Given the description of an element on the screen output the (x, y) to click on. 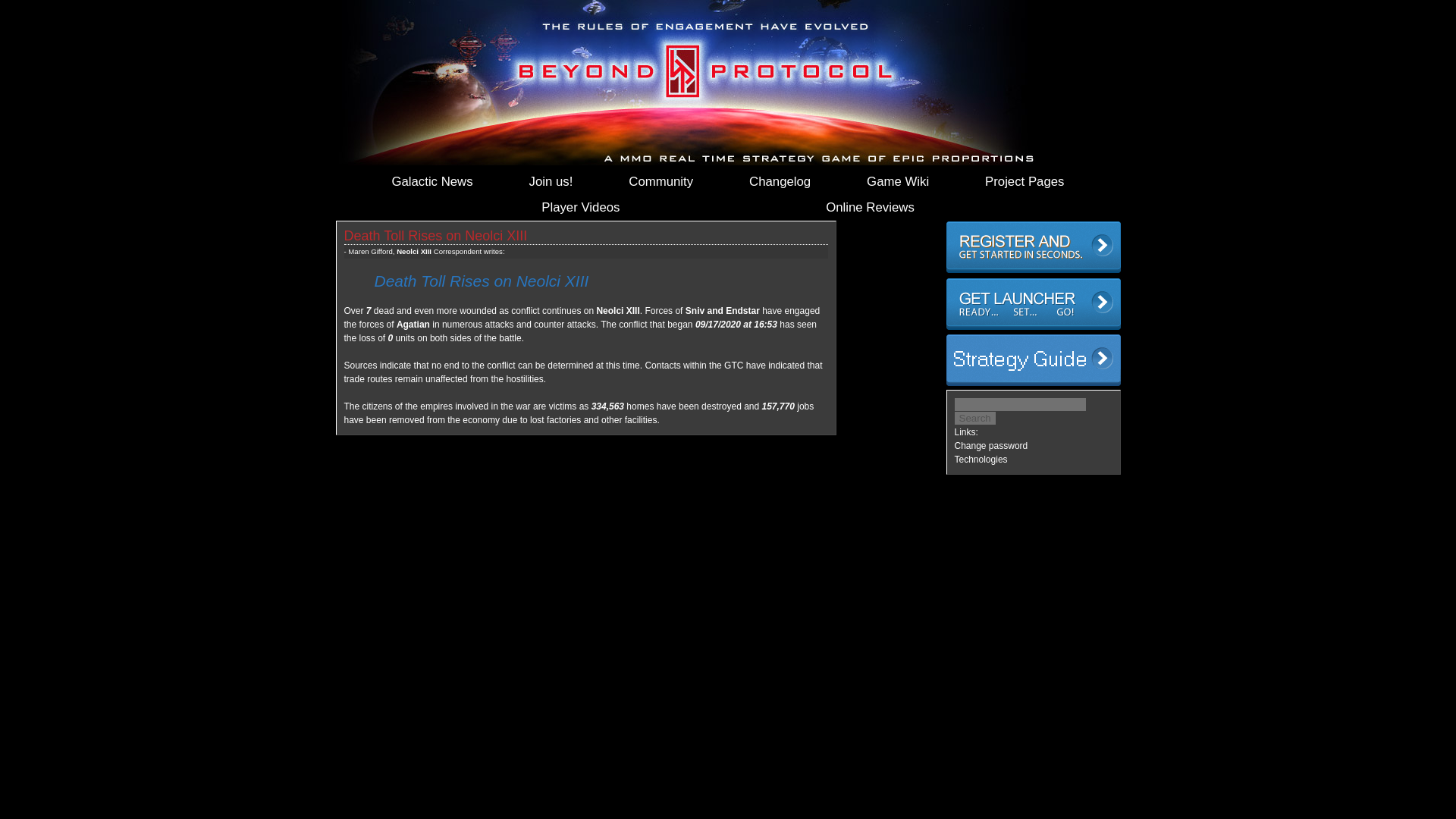
Project Pages (1024, 181)
Galactic News (431, 181)
Sniv and Endstar (722, 310)
Agatian (412, 324)
Death Toll Rises on Neolci XIII (435, 235)
Change password (990, 445)
Game Wiki (897, 181)
Technologies (980, 459)
Neolci XIII (617, 310)
Neolci XIII (413, 251)
Player Videos (580, 207)
Search (973, 418)
Join us! (551, 181)
Search (973, 418)
Community (660, 181)
